Given the description of an element on the screen output the (x, y) to click on. 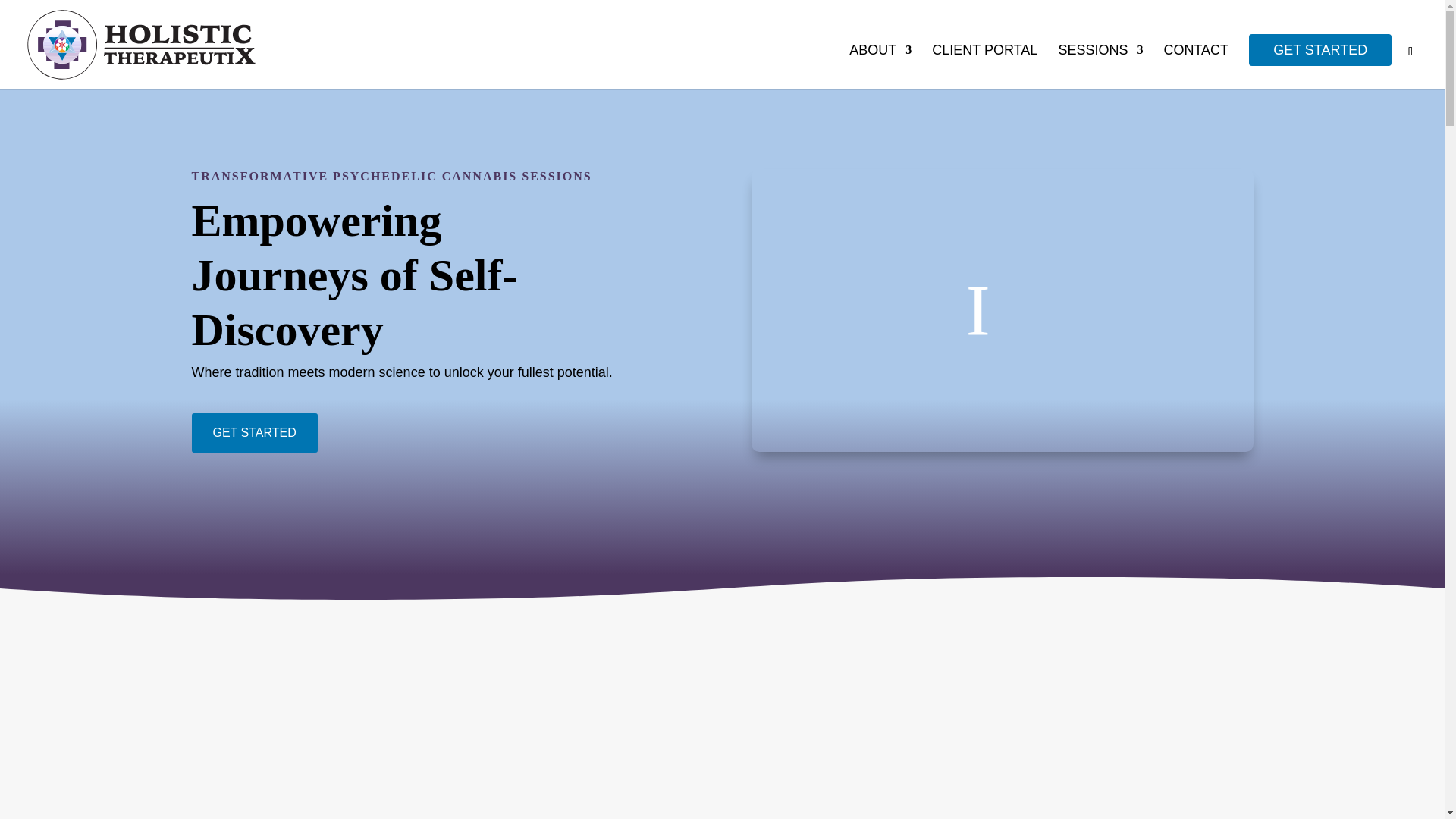
SESSIONS (1100, 67)
CONTACT (1195, 67)
CLIENT PORTAL (983, 67)
GET STARTED (253, 432)
ABOUT (879, 67)
GET STARTED (1320, 50)
